Given the description of an element on the screen output the (x, y) to click on. 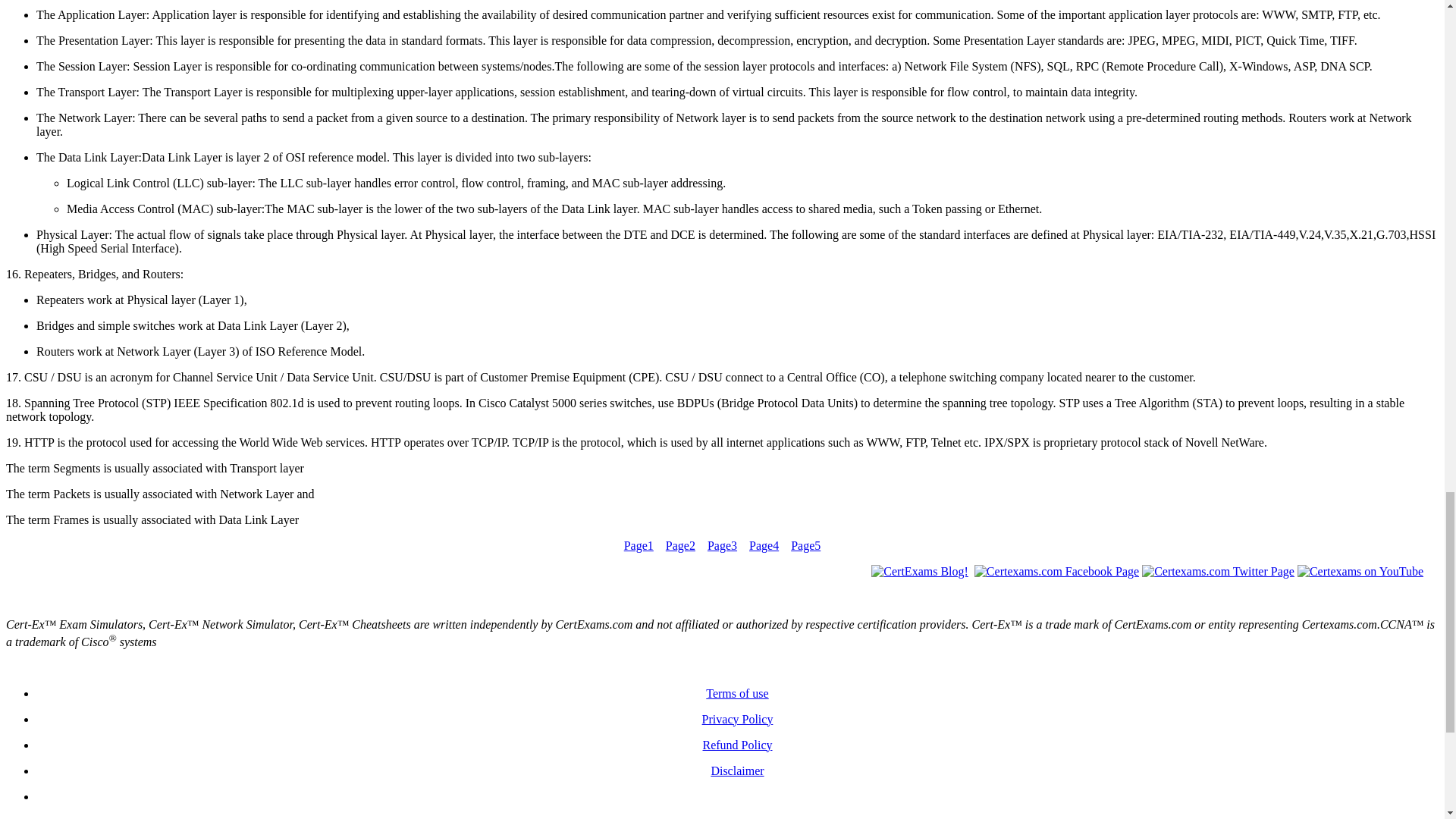
Certexams.com Facebook Page (1056, 571)
Certexams.com Twitter Page (1217, 571)
